Given the description of an element on the screen output the (x, y) to click on. 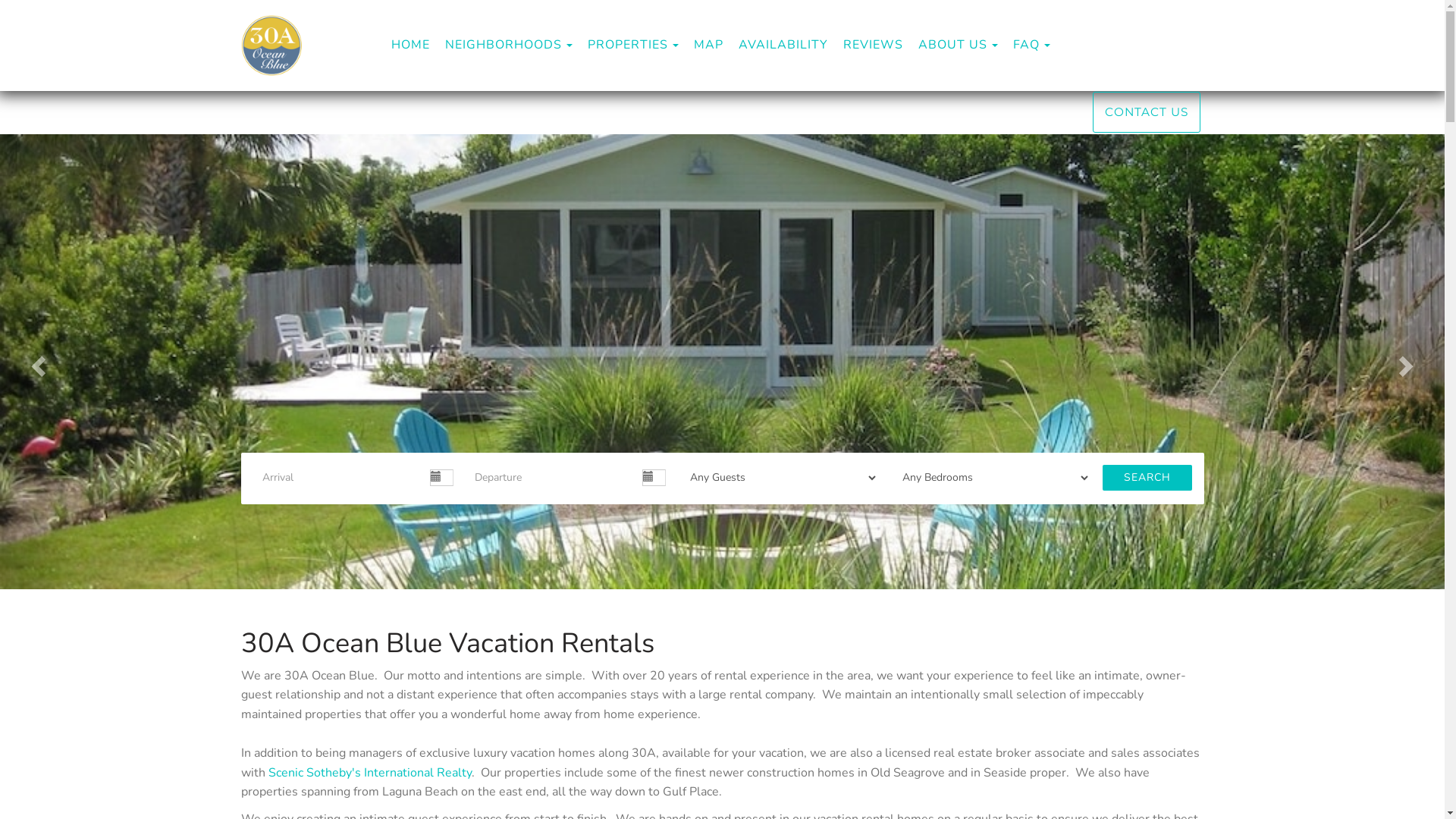
Scenic Sotheby's International Realty Element type: text (369, 772)
CONTACT US Element type: text (1145, 111)
Previous Element type: text (36, 361)
REVIEWS Element type: text (873, 44)
MAP Element type: text (707, 44)
FAQ Element type: text (1026, 45)
ABOUT US Element type: text (951, 45)
NEIGHBORHOODS Element type: text (502, 45)
PROPERTIES Element type: text (626, 45)
SEARCH Element type: text (1147, 477)
AVAILABILITY Element type: text (783, 44)
HOME Element type: text (410, 44)
Next Element type: text (1408, 361)
30A Ocean Blue Vacation Rentals Element type: hover (401, 45)
